Given the description of an element on the screen output the (x, y) to click on. 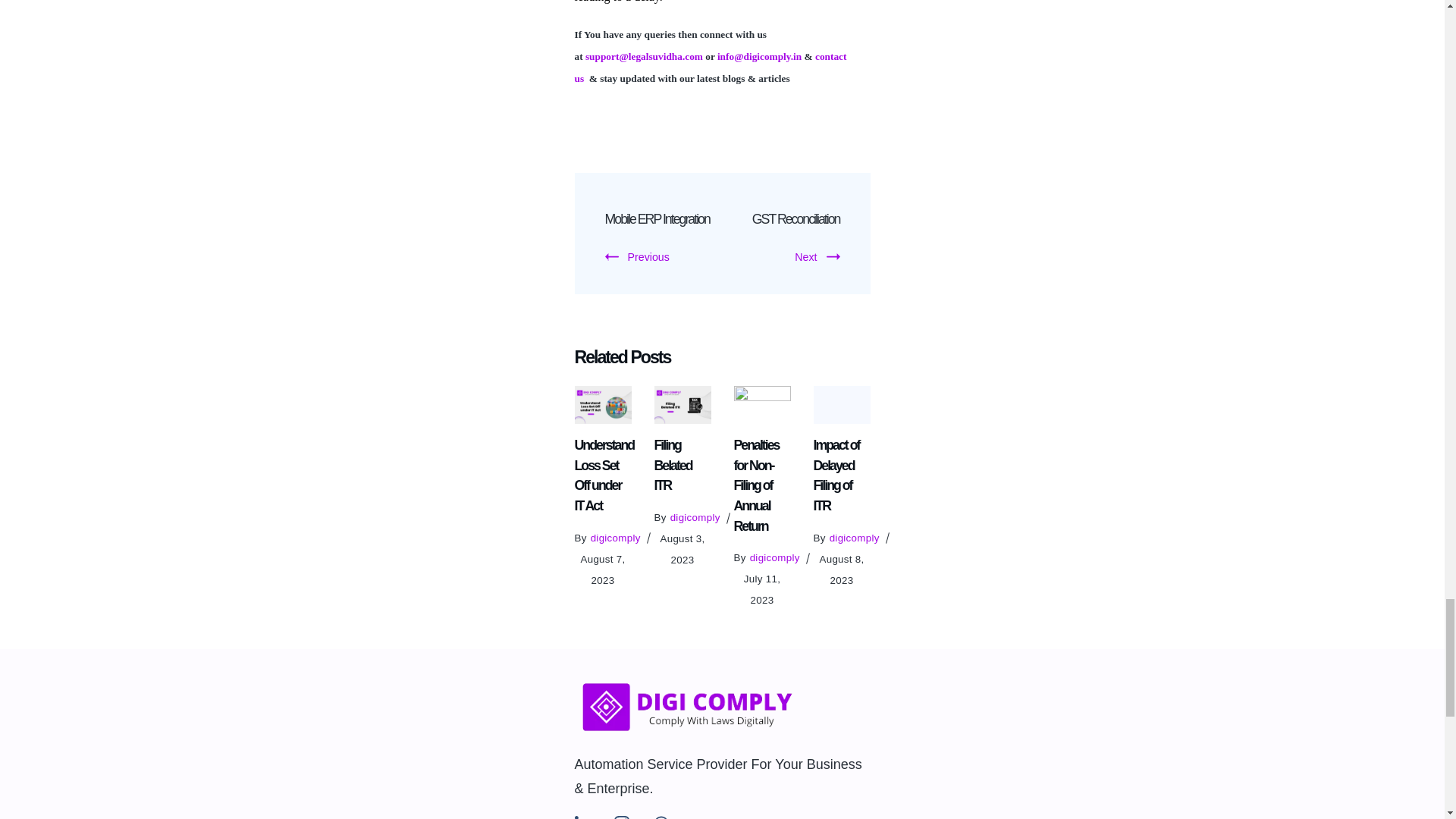
digicomply (694, 517)
Previous (637, 256)
GST Reconciliation (796, 218)
contact us  (711, 67)
Next (817, 256)
Mobile ERP Integration (657, 218)
digicomply (615, 537)
